Given the description of an element on the screen output the (x, y) to click on. 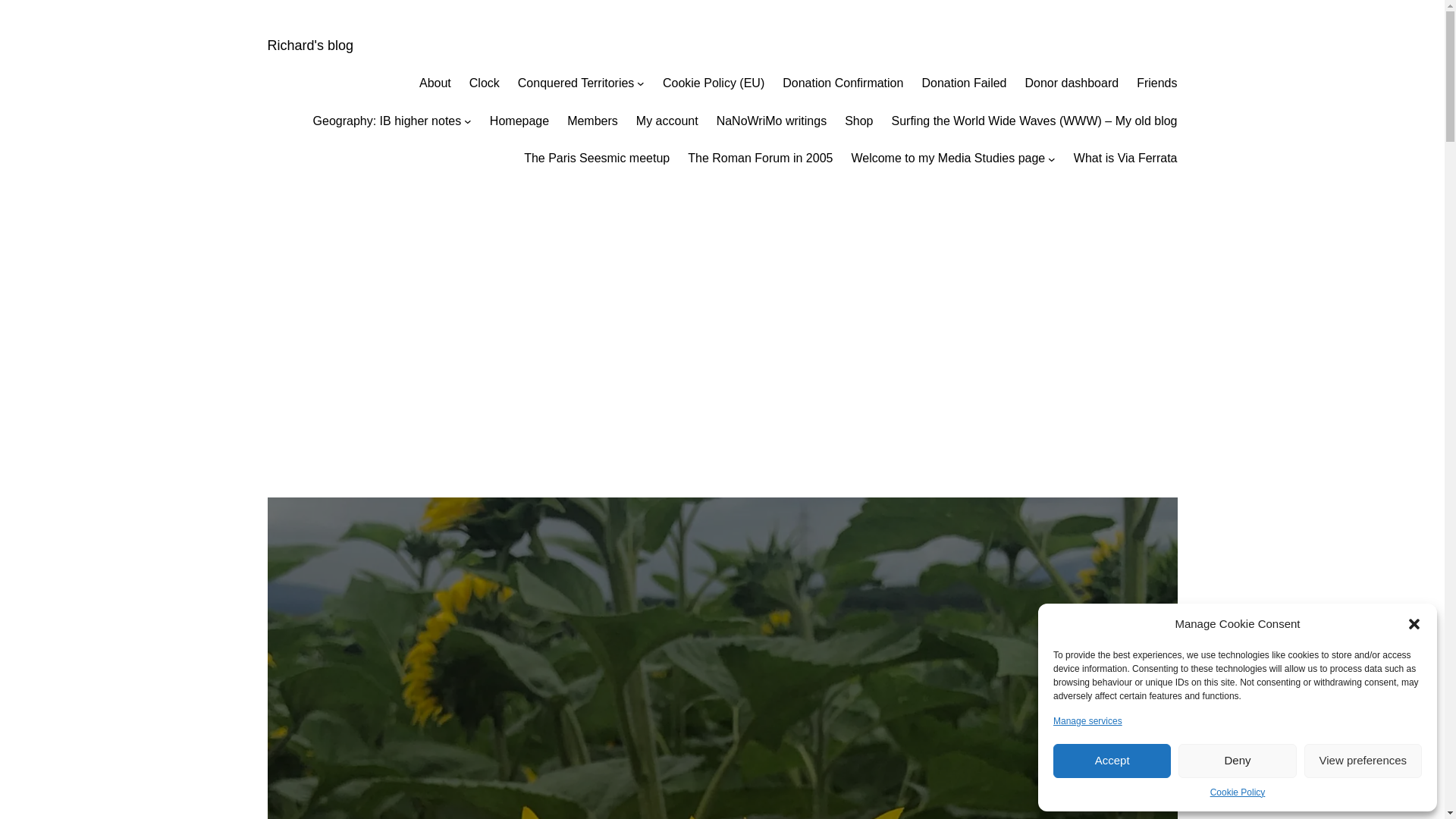
Accept (1111, 760)
Deny (1236, 760)
Manage services (1087, 721)
About (435, 83)
Donation Failed (963, 83)
View preferences (1363, 760)
Cookie Policy (1237, 792)
Friends (1156, 83)
Clock (483, 83)
Donation Confirmation (842, 83)
Richard's blog (309, 45)
Donor dashboard (1072, 83)
Geography: IB higher notes (387, 121)
Conquered Territories (576, 83)
